Given the description of an element on the screen output the (x, y) to click on. 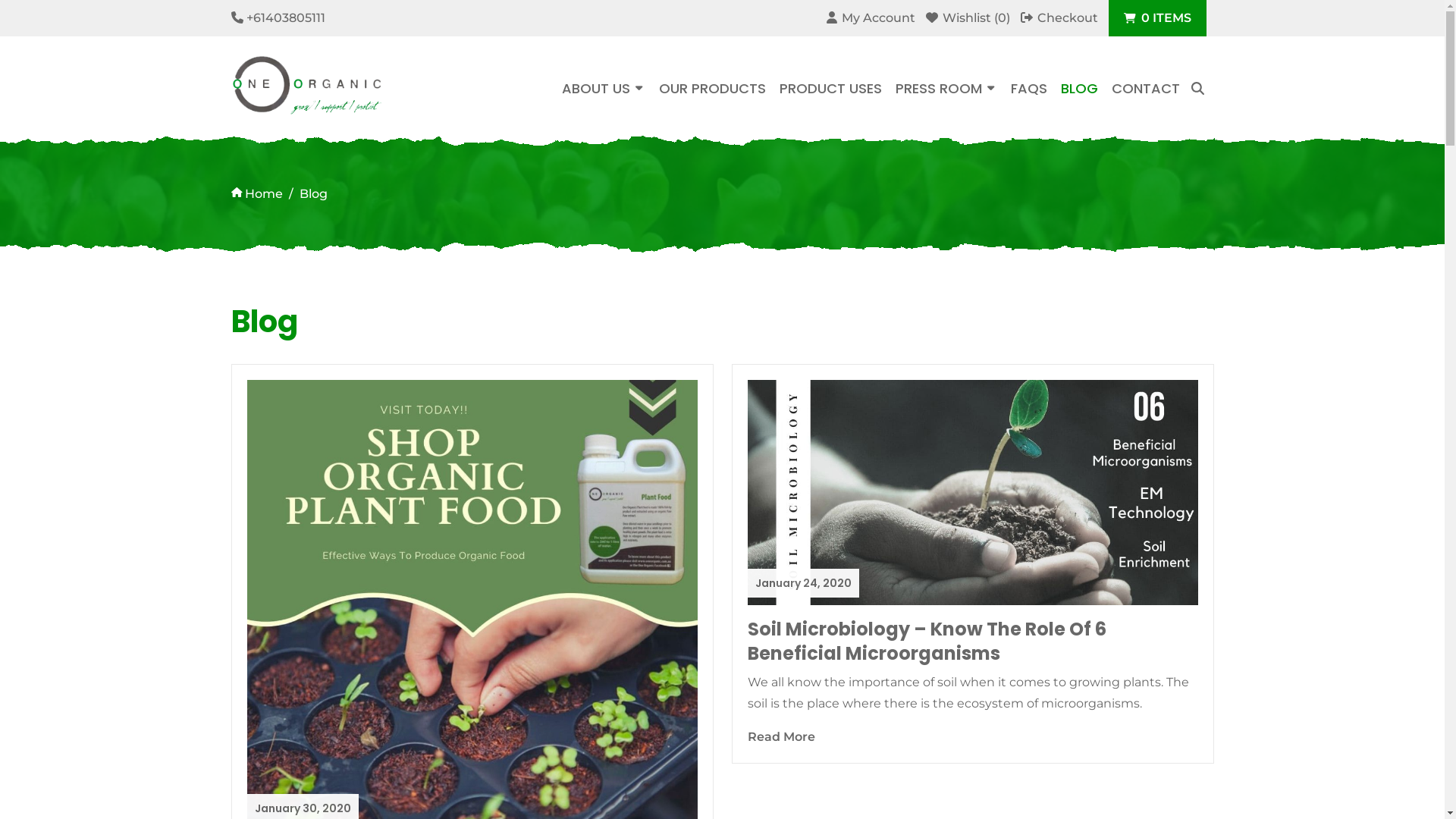
Home Element type: text (256, 193)
PRODUCT USES Element type: text (830, 88)
Wishlist (0) Element type: text (967, 17)
PRESS ROOM Element type: text (945, 88)
My Account Element type: text (870, 17)
ABOUT US Element type: text (602, 88)
Checkout Element type: text (1059, 17)
BLOG Element type: text (1078, 88)
OUR PRODUCTS Element type: text (711, 88)
CONTACT Element type: text (1145, 88)
+61403805111 Element type: text (284, 17)
Read More Element type: text (781, 736)
FAQS Element type: text (1028, 88)
